Given the description of an element on the screen output the (x, y) to click on. 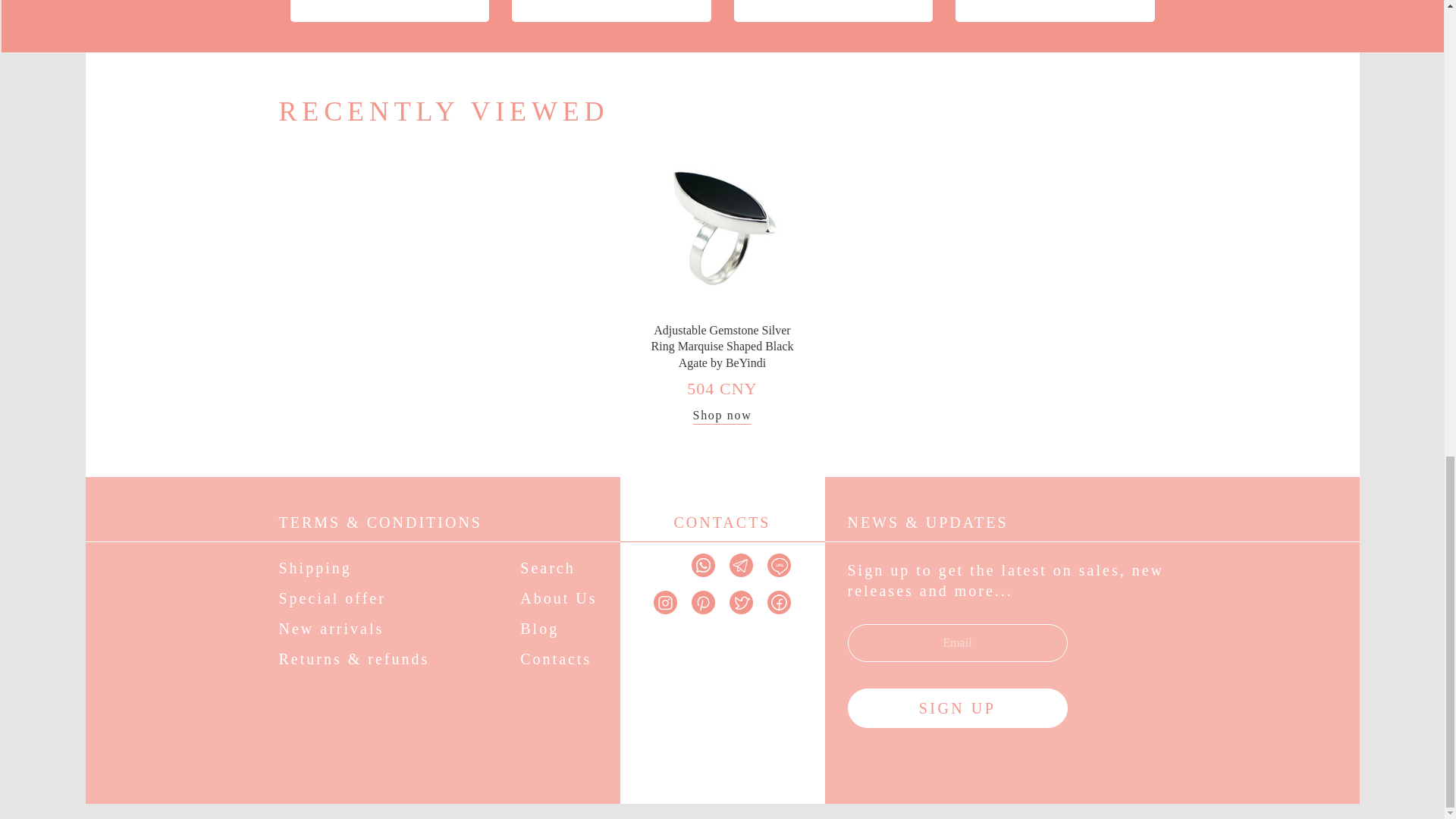
Sign Up (957, 708)
